Given the description of an element on the screen output the (x, y) to click on. 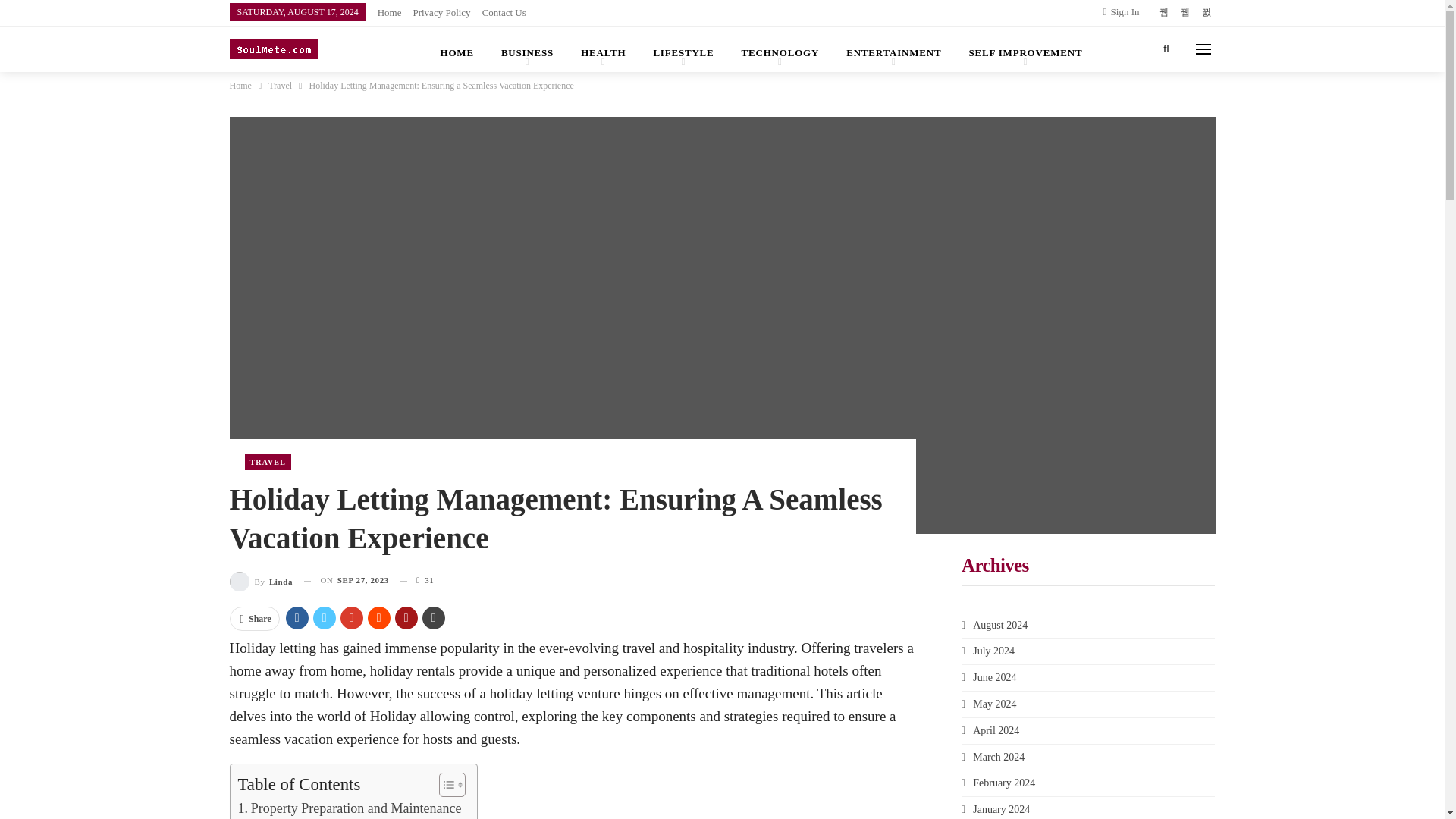
Home (389, 12)
TECHNOLOGY (780, 49)
Sign In (1124, 12)
LIFESTYLE (682, 49)
Property Preparation and Maintenance (349, 808)
HOME (456, 49)
Privacy Policy (441, 12)
BUSINESS (527, 49)
Browse Author Articles (260, 580)
